Given the description of an element on the screen output the (x, y) to click on. 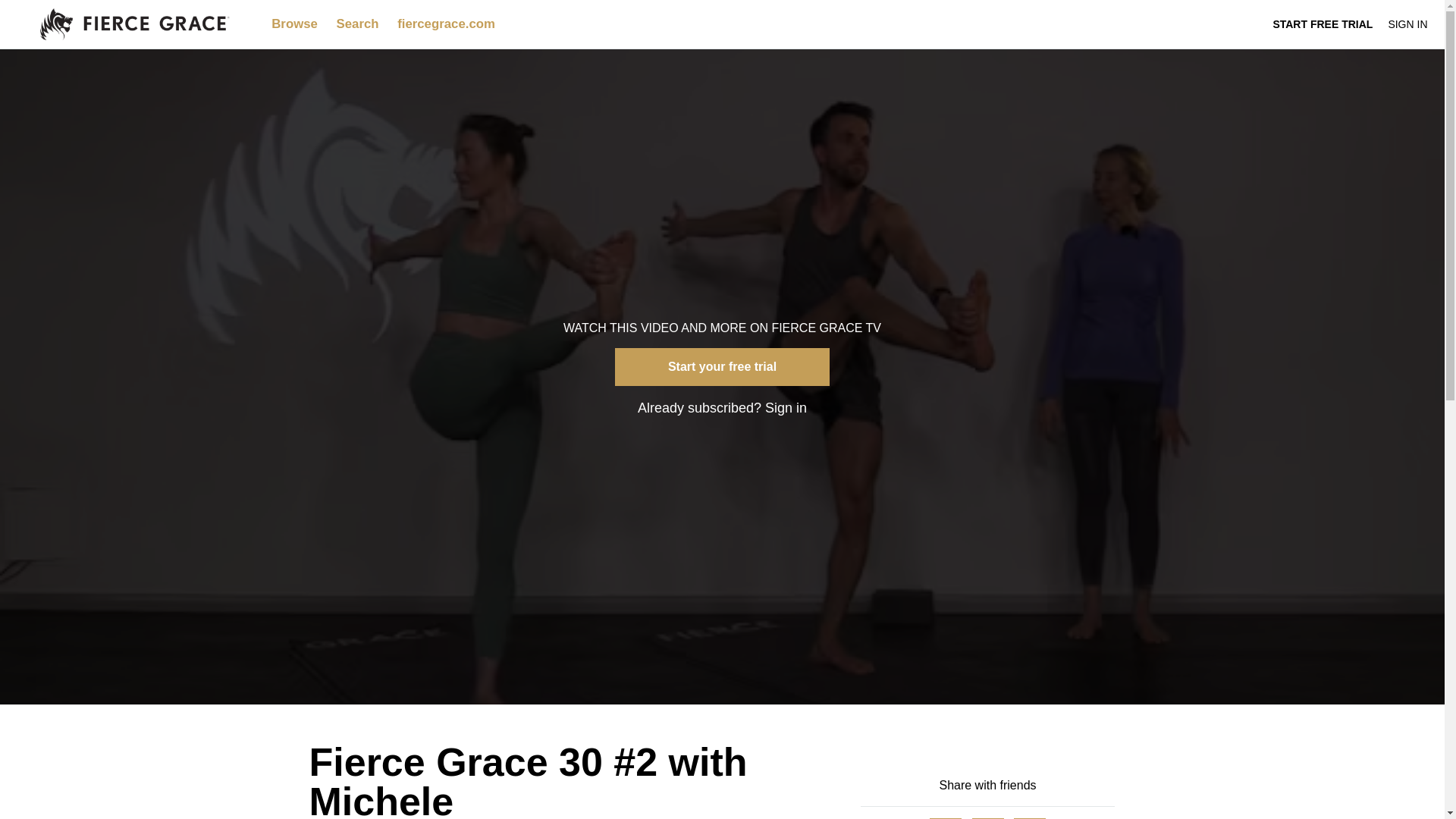
Start your free trial (721, 366)
Skip to main content (48, 7)
START FREE TRIAL (1322, 24)
SIGN IN (1406, 24)
Sign in (785, 407)
fiercegrace.com (446, 23)
Search (359, 23)
Browse (296, 23)
